Given the description of an element on the screen output the (x, y) to click on. 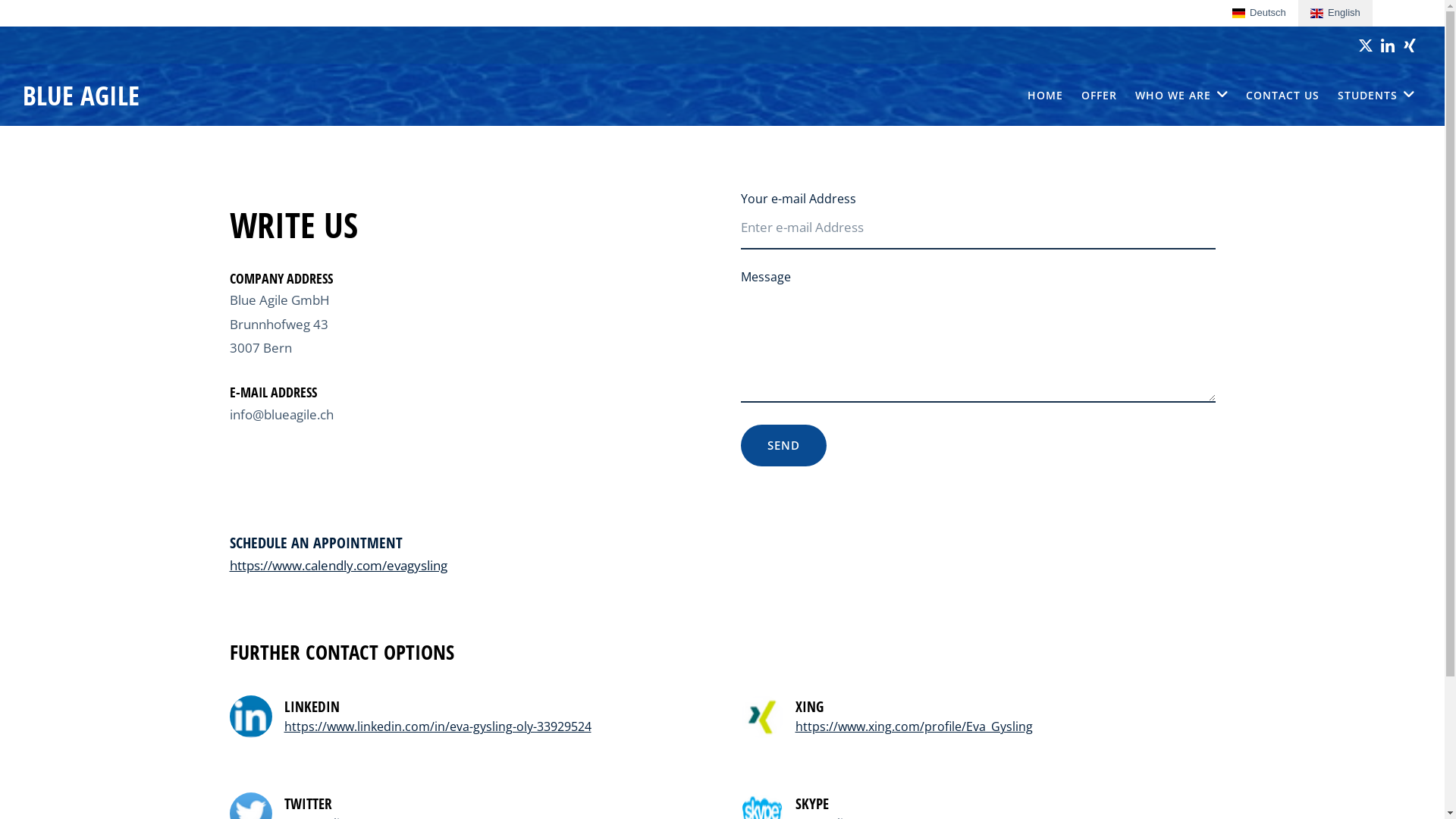
English Element type: text (1335, 13)
https://www.calendly.com/evagysling Element type: text (337, 565)
https://www.xing.com/profile/Eva_Gysling Element type: text (913, 726)
Deutsch Element type: text (1259, 13)
SEND Element type: text (782, 445)
OFFER Element type: text (1098, 95)
info@blueagile.ch Element type: text (280, 414)
CONTACT US Element type: text (1282, 95)
HOME Element type: text (1044, 95)
BLUE AGILE Element type: text (80, 94)
https://www.linkedin.com/in/eva-gysling-oly-33929524 Element type: text (436, 726)
